Given the description of an element on the screen output the (x, y) to click on. 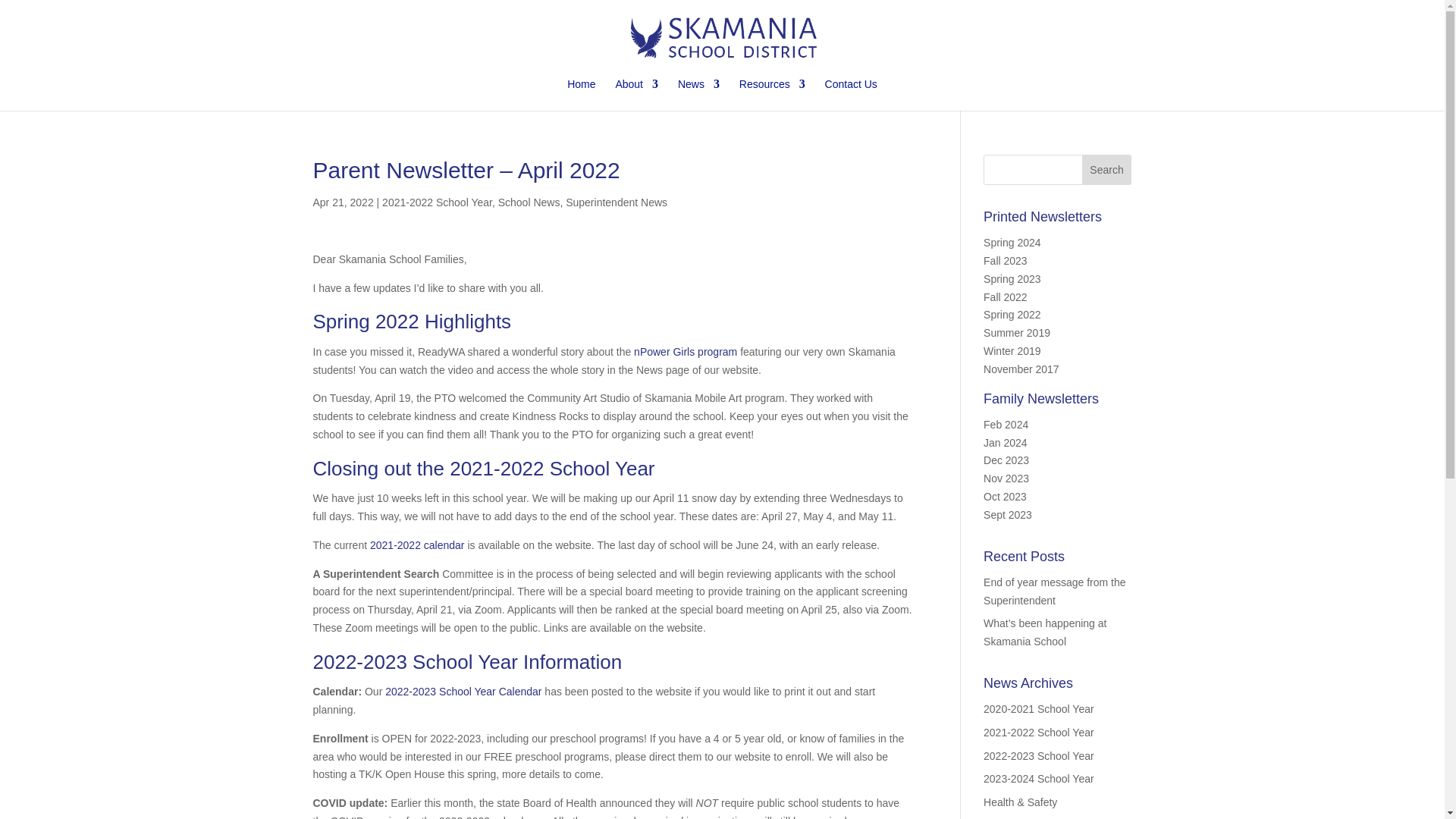
About (636, 94)
Search (1106, 169)
News (698, 94)
